Given the description of an element on the screen output the (x, y) to click on. 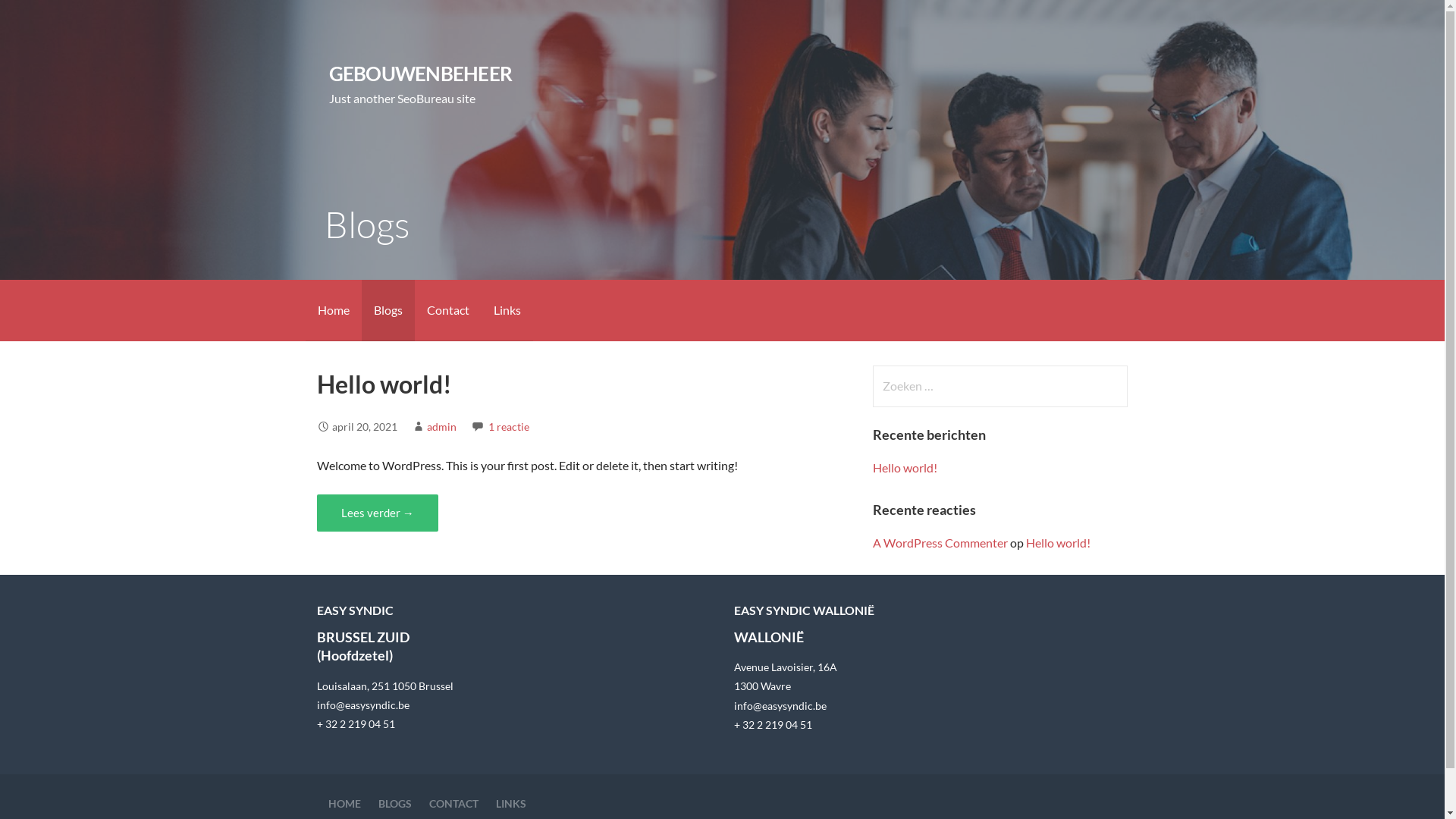
Contact Element type: text (447, 310)
Hello world! Element type: text (383, 383)
Blogs Element type: text (387, 310)
LINKS Element type: text (510, 803)
BLOGS Element type: text (394, 803)
GEBOUWENBEHEER Element type: text (420, 73)
Links Element type: text (506, 310)
admin Element type: text (441, 426)
HOME Element type: text (343, 803)
1 reactie Element type: text (508, 426)
CONTACT Element type: text (453, 803)
A WordPress Commenter Element type: text (939, 542)
Hello world! Element type: text (904, 467)
Zoeken Element type: text (42, 18)
Hello world! Element type: text (1058, 542)
Home Element type: text (332, 310)
